Given the description of an element on the screen output the (x, y) to click on. 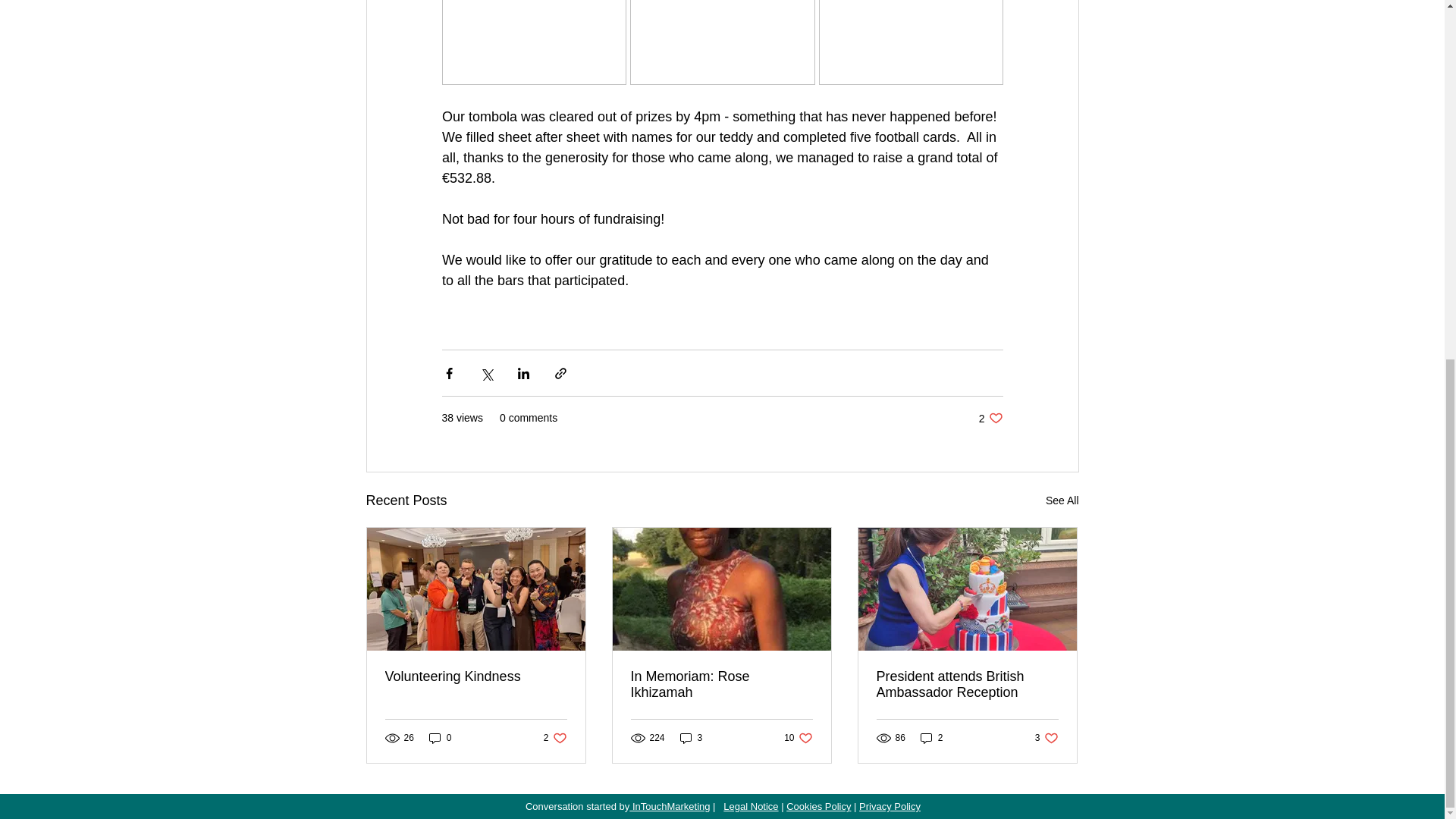
0 (440, 738)
3 (691, 738)
President attends British Ambassador Reception (967, 685)
Privacy Policy (1046, 738)
Volunteering Kindness (889, 806)
InTouchMarketing (555, 738)
Legal Notice (476, 676)
